Given the description of an element on the screen output the (x, y) to click on. 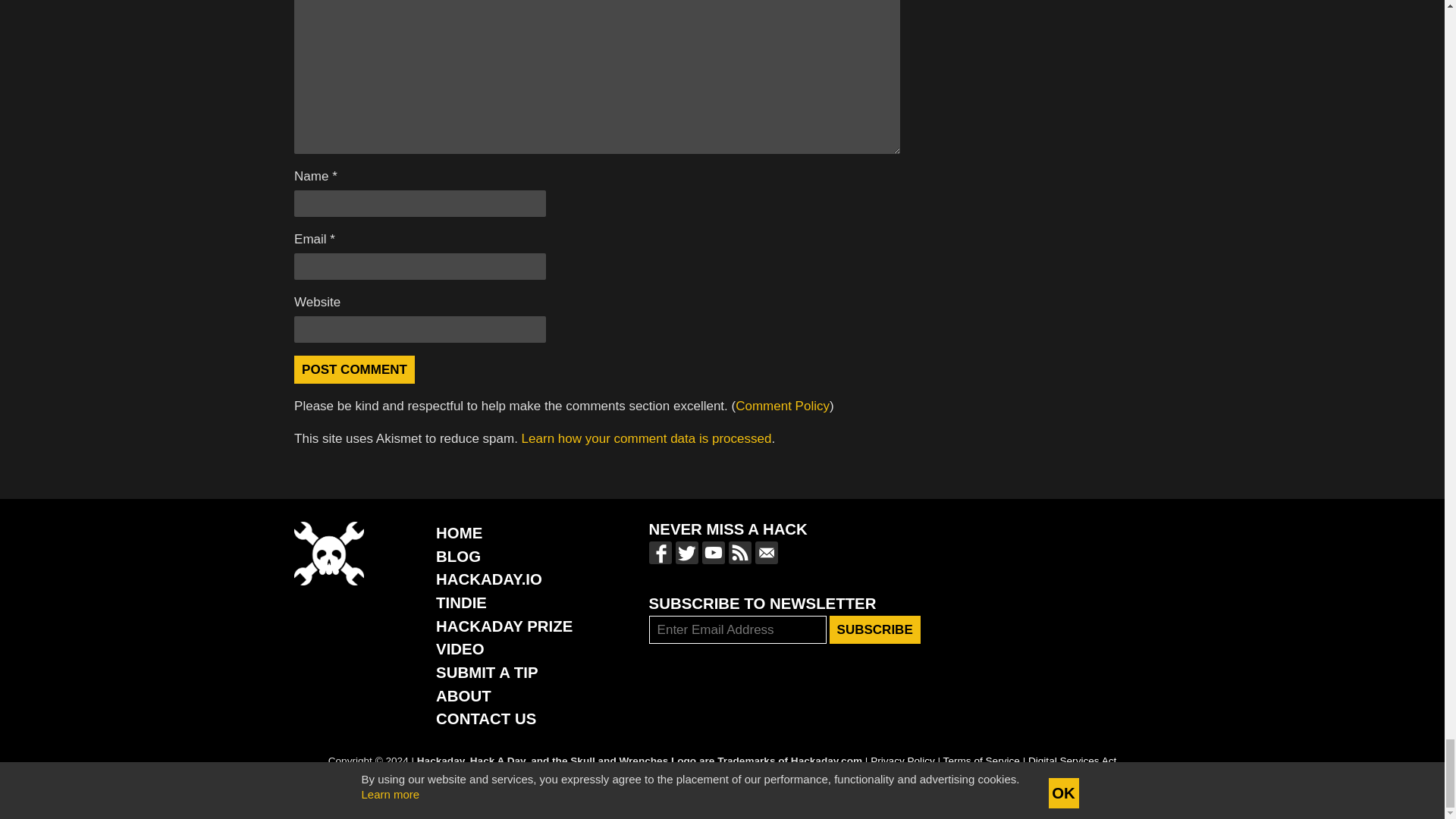
Build Something that Matters (503, 626)
Post Comment (354, 369)
Subscribe (874, 629)
